Given the description of an element on the screen output the (x, y) to click on. 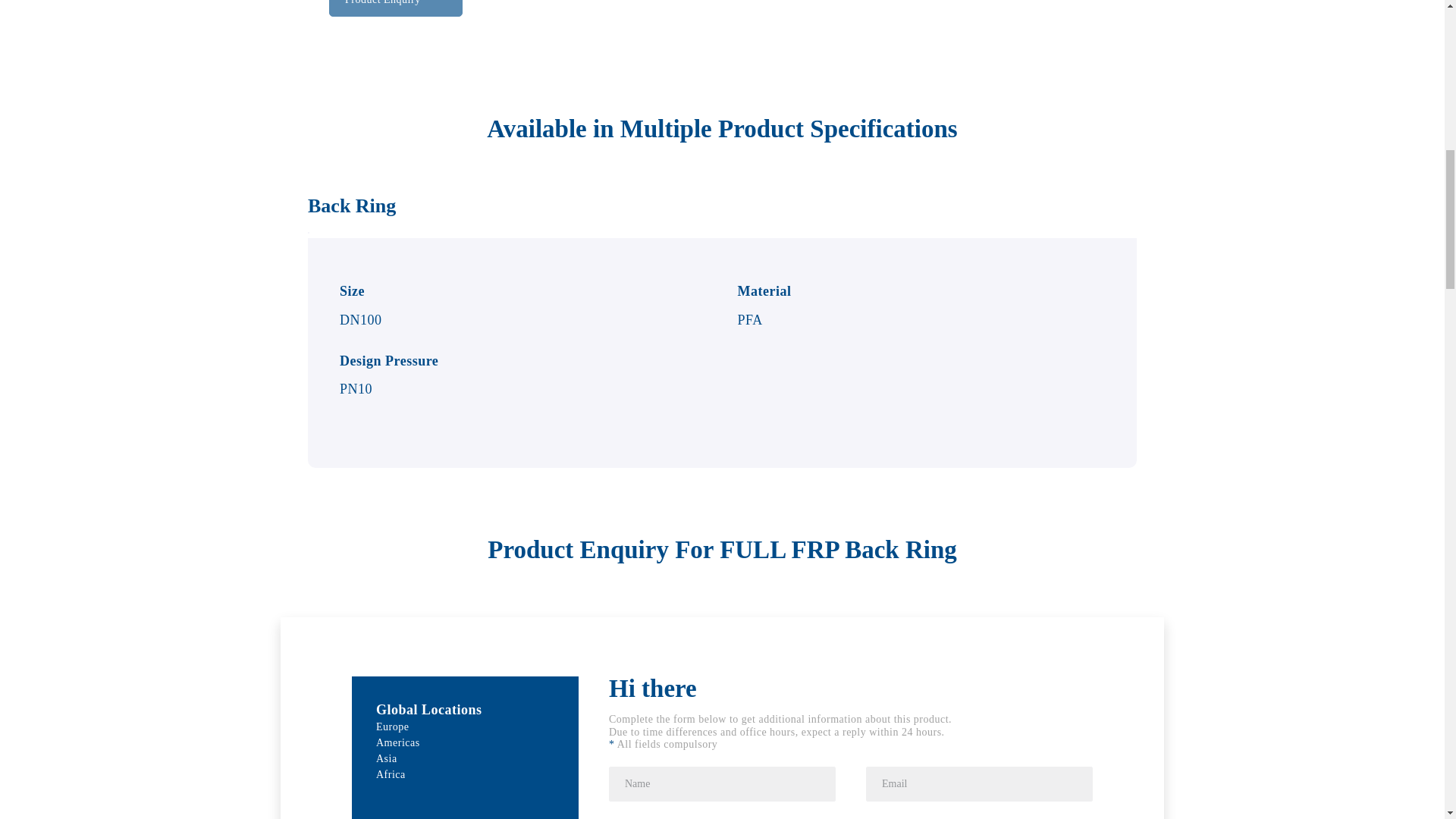
Please prove you are human by selecting the star. (850, 792)
Product Enquiry (395, 2)
Product Enquiry (396, 8)
